Given the description of an element on the screen output the (x, y) to click on. 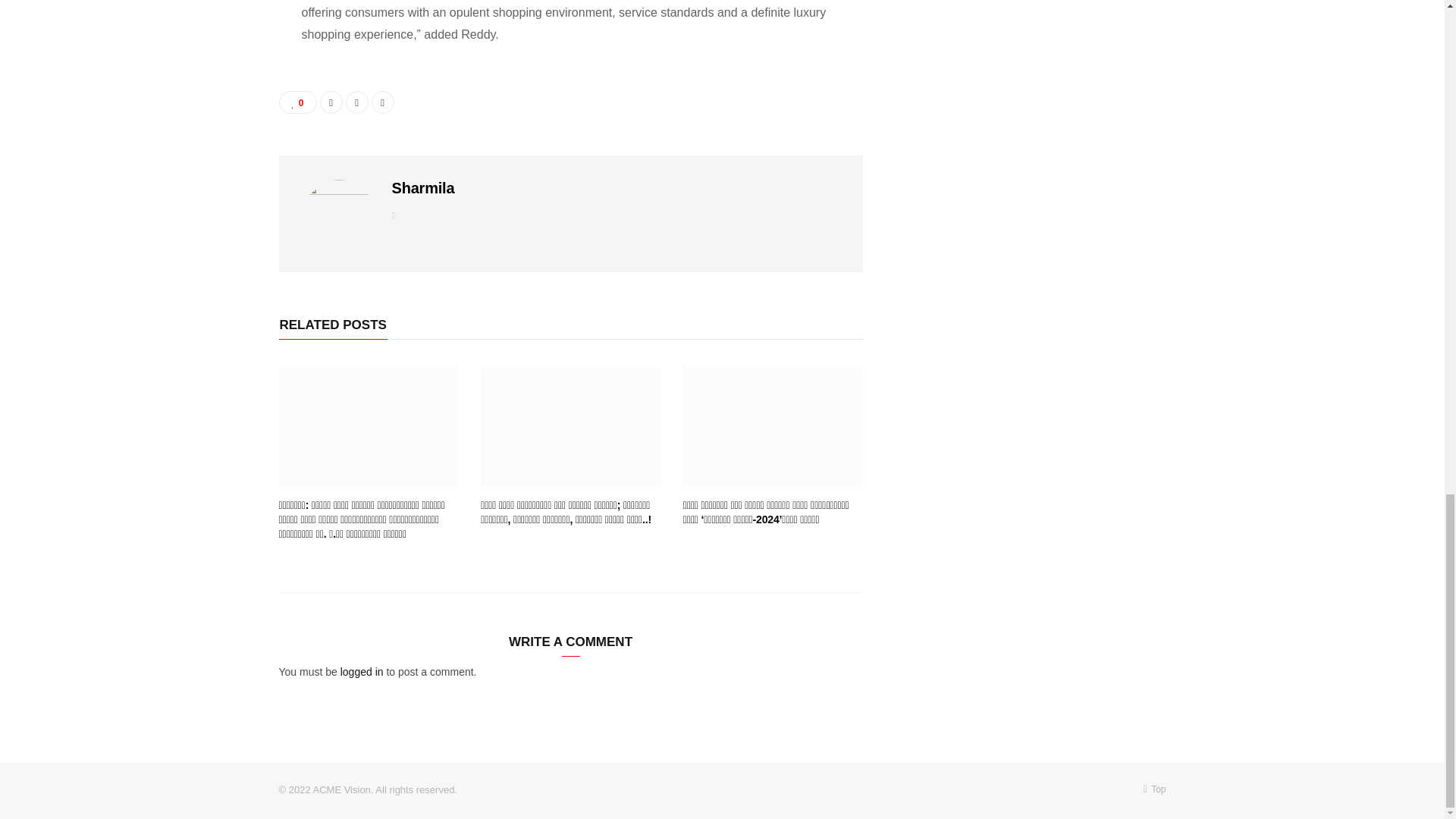
Share on Twitter (357, 101)
Share on Facebook (331, 101)
